Given the description of an element on the screen output the (x, y) to click on. 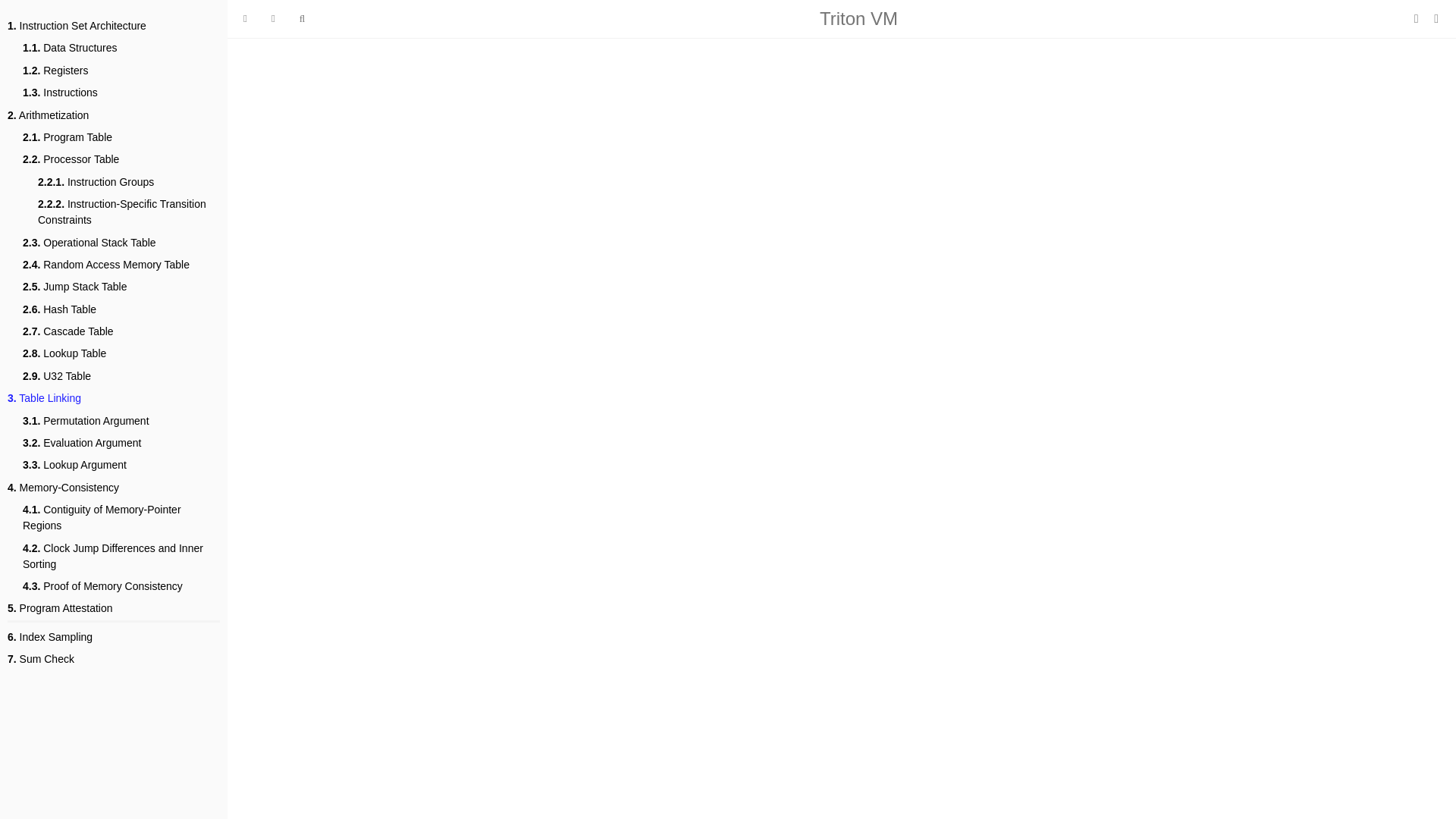
1.1. Data Structures (70, 48)
Print this book (1417, 18)
1. Instruction Set Architecture (77, 26)
1.3. Instructions (60, 92)
Git repository (1436, 18)
1.2. Registers (55, 70)
